Given the description of an element on the screen output the (x, y) to click on. 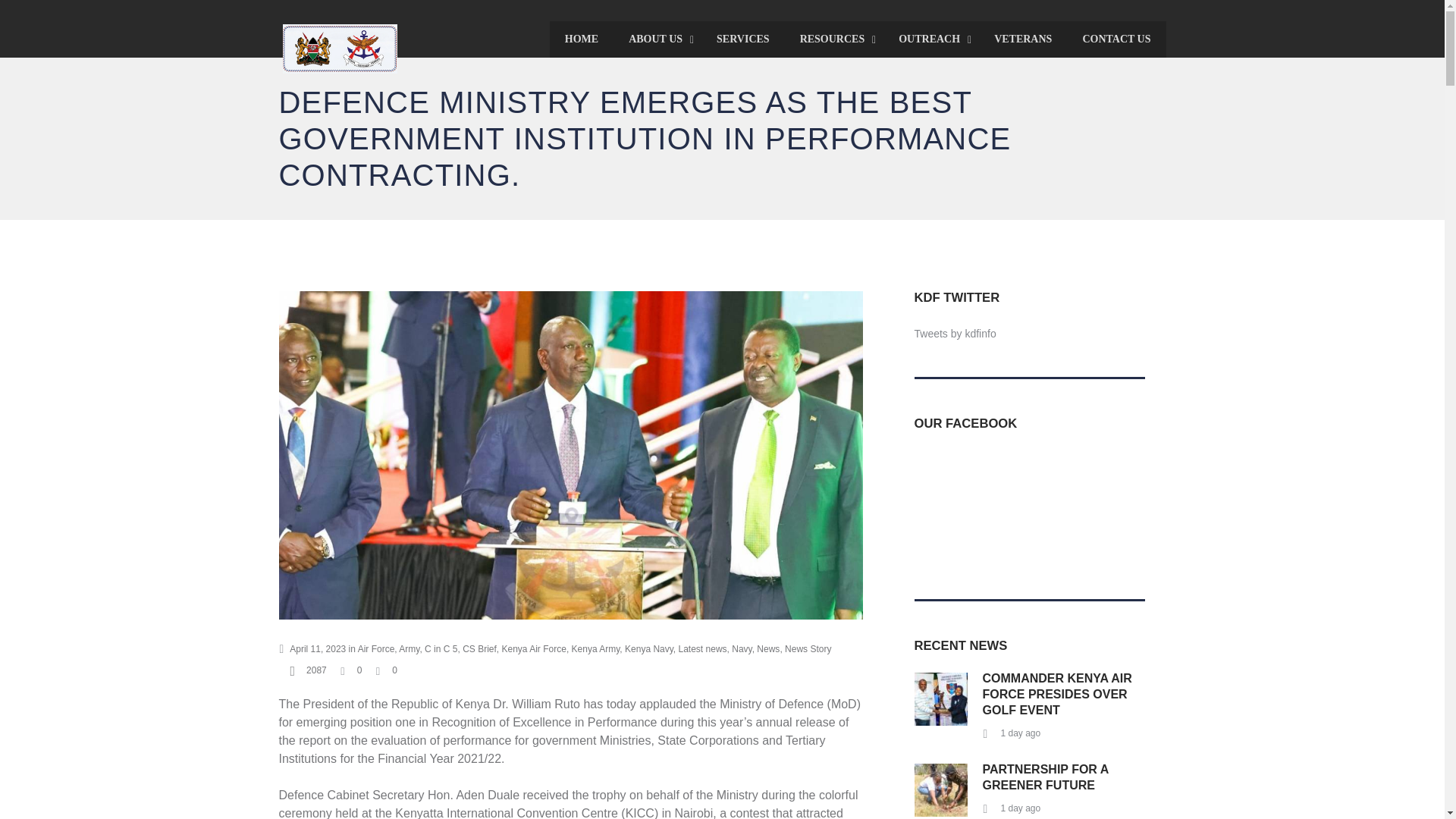
Views - 2087 (307, 670)
HOME (581, 39)
Comments - 0 (386, 670)
RESOURCES (833, 39)
SERVICES (742, 39)
Like (350, 670)
ABOUT US (656, 39)
